Given the description of an element on the screen output the (x, y) to click on. 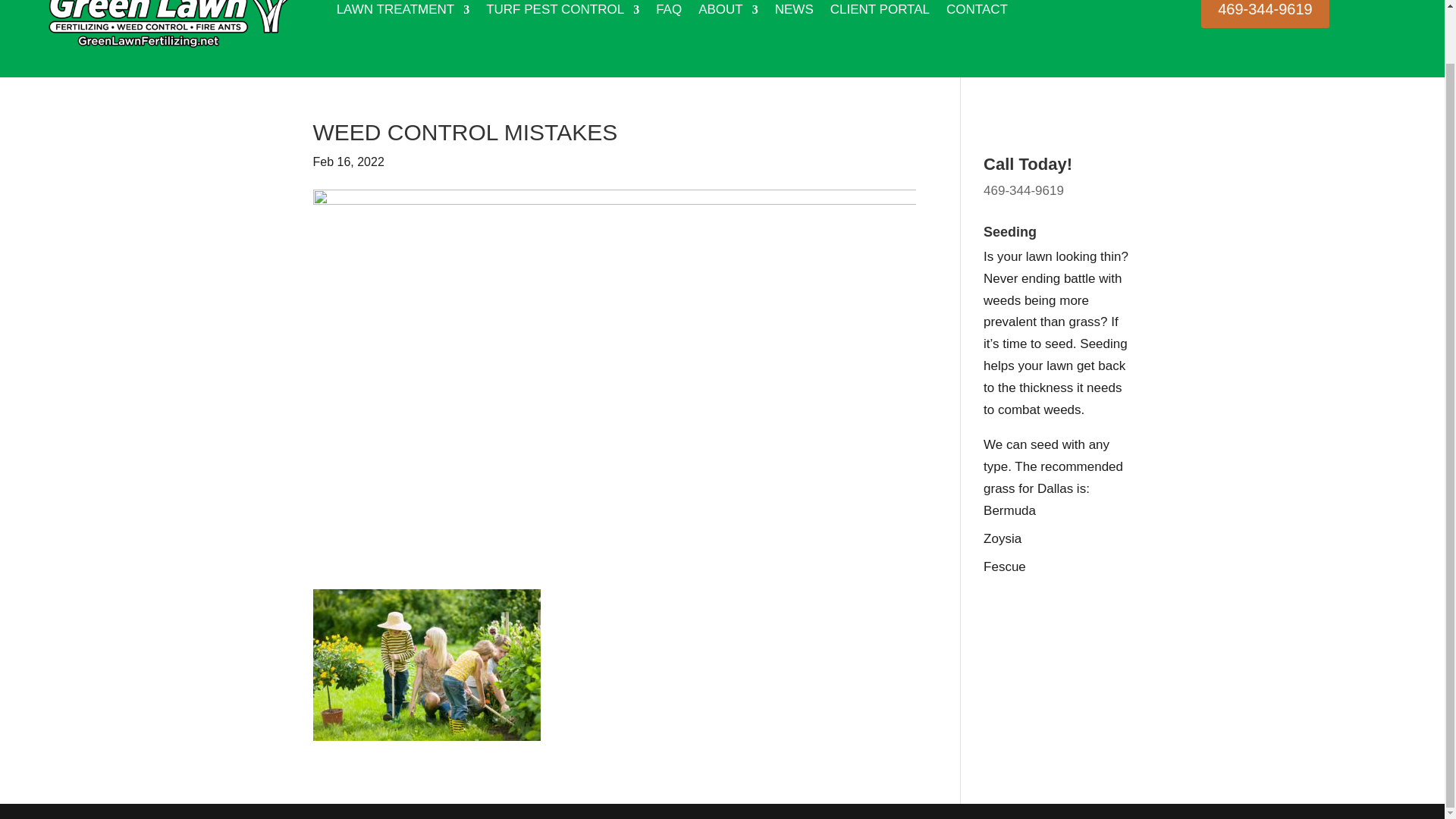
TURF PEST CONTROL (562, 28)
CLIENT PORTAL (879, 28)
Contact Us (976, 28)
CONTACT (976, 28)
Pest Control Service (562, 28)
Client Portal (879, 28)
LAWN TREATMENT (403, 28)
Lawn Care Rockwall (403, 28)
ABOUT (728, 28)
469-344-9619 (1024, 190)
469-344-9619 (1265, 13)
Green Lawn (728, 28)
